Given the description of an element on the screen output the (x, y) to click on. 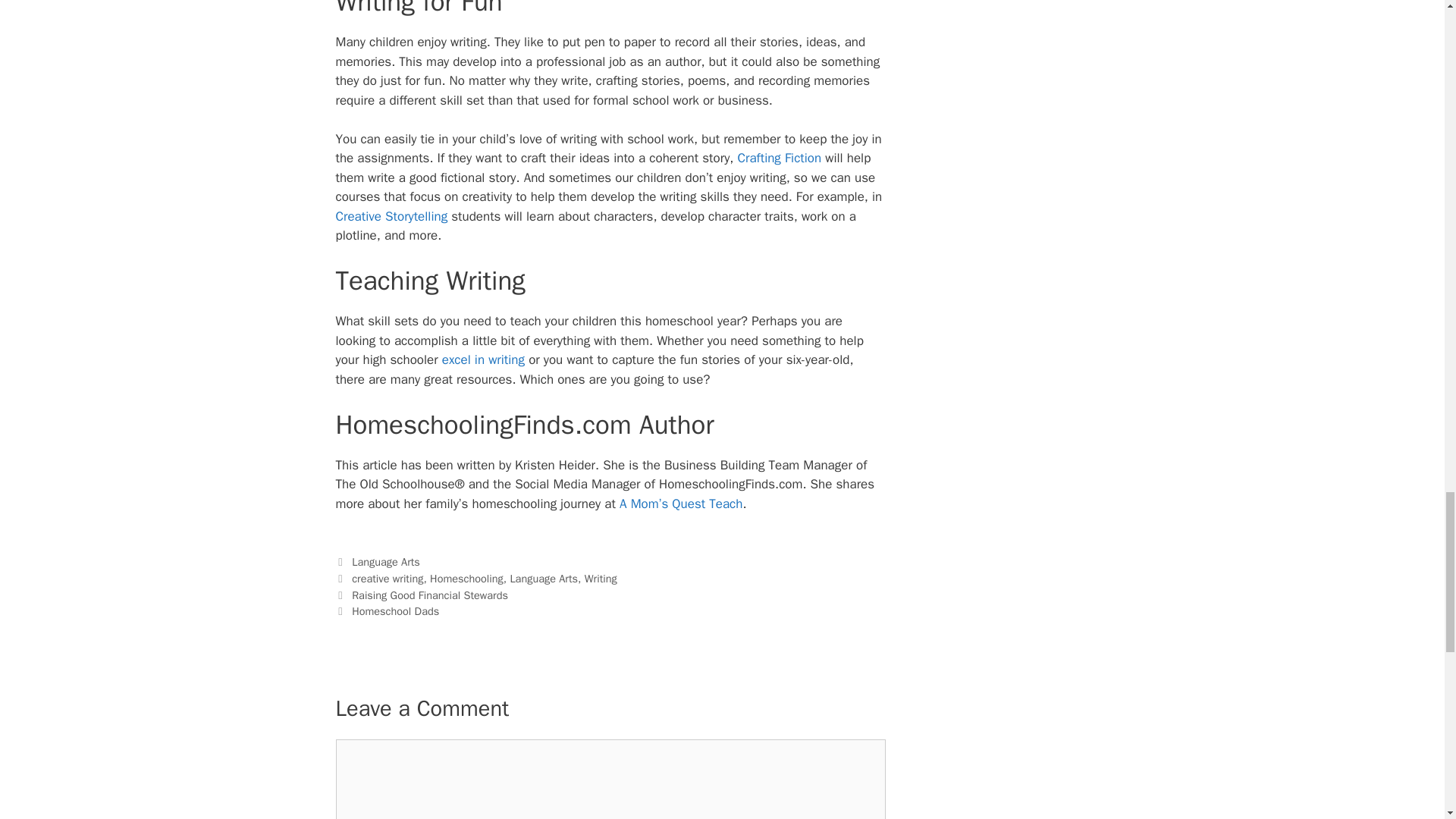
Language Arts (386, 561)
Creative Storytelling (390, 216)
Crafting Fiction (778, 157)
creative writing (387, 578)
Writing (601, 578)
excel in writing (483, 359)
Language Arts (543, 578)
Homeschool Dads (395, 611)
Homeschooling (466, 578)
Raising Good Financial Stewards (430, 594)
